Given the description of an element on the screen output the (x, y) to click on. 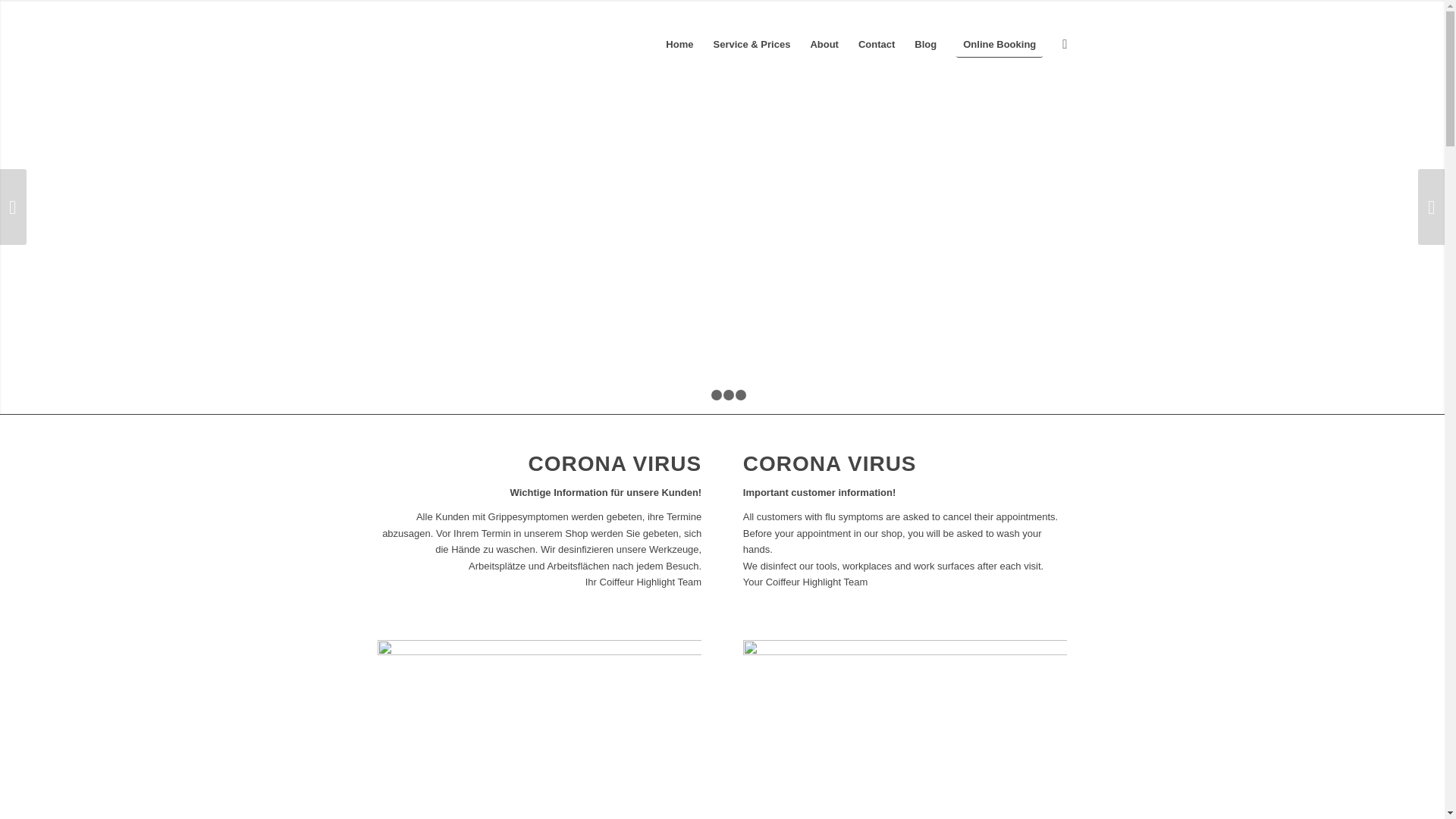
3 Element type: text (728, 394)
1 Element type: text (704, 394)
4 Element type: text (740, 394)
2 Element type: text (716, 394)
Online Booking Element type: text (999, 44)
Weiter Element type: text (1431, 206)
About Element type: text (824, 44)
Contact Element type: text (876, 44)
Blog Element type: text (925, 44)
Home Element type: text (678, 44)
Service & Prices Element type: text (751, 44)
